Given the description of an element on the screen output the (x, y) to click on. 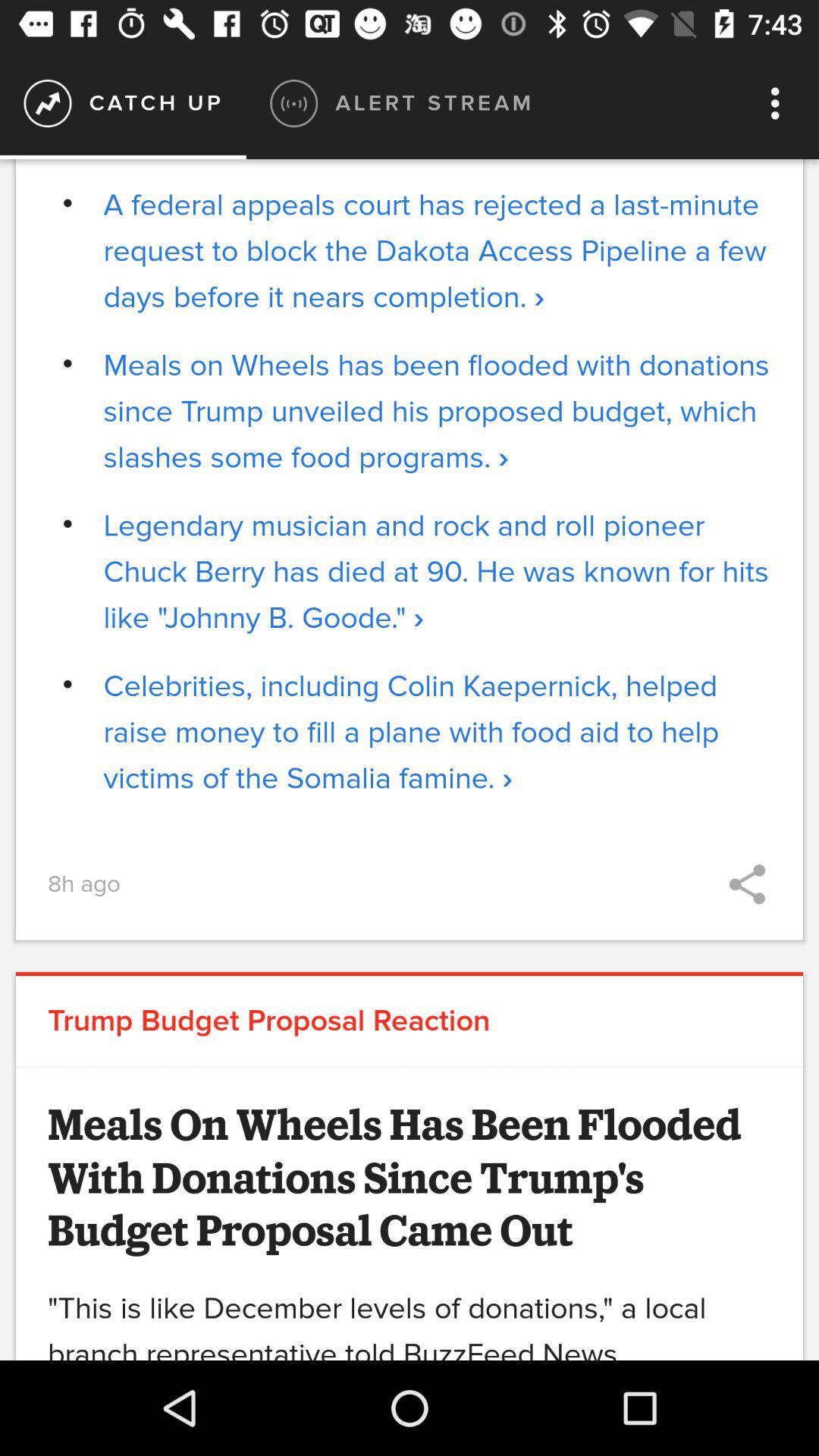
launch icon next to 8h ago item (747, 884)
